Given the description of an element on the screen output the (x, y) to click on. 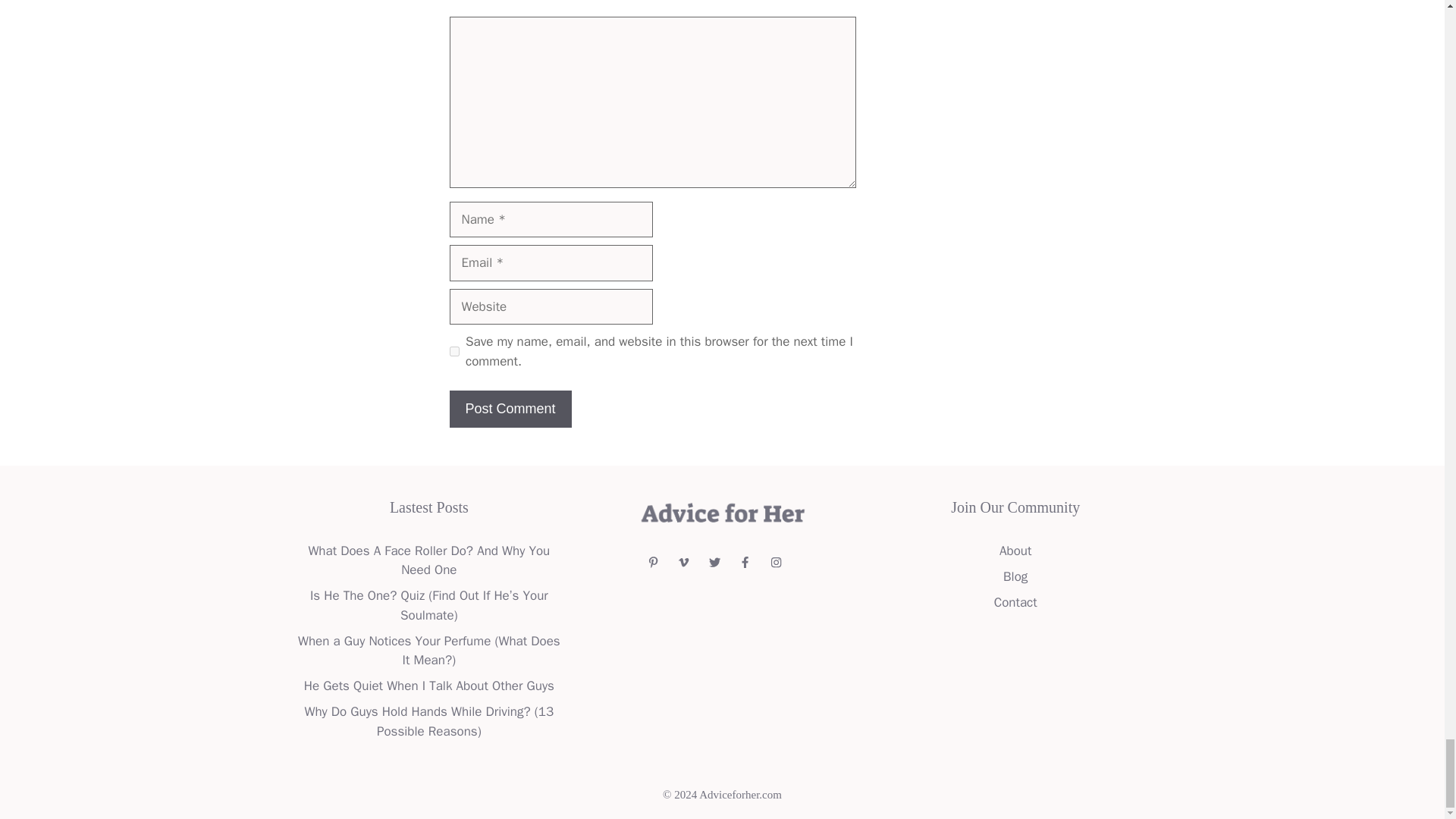
Post Comment (509, 408)
yes (453, 351)
Post Comment (509, 408)
